Given the description of an element on the screen output the (x, y) to click on. 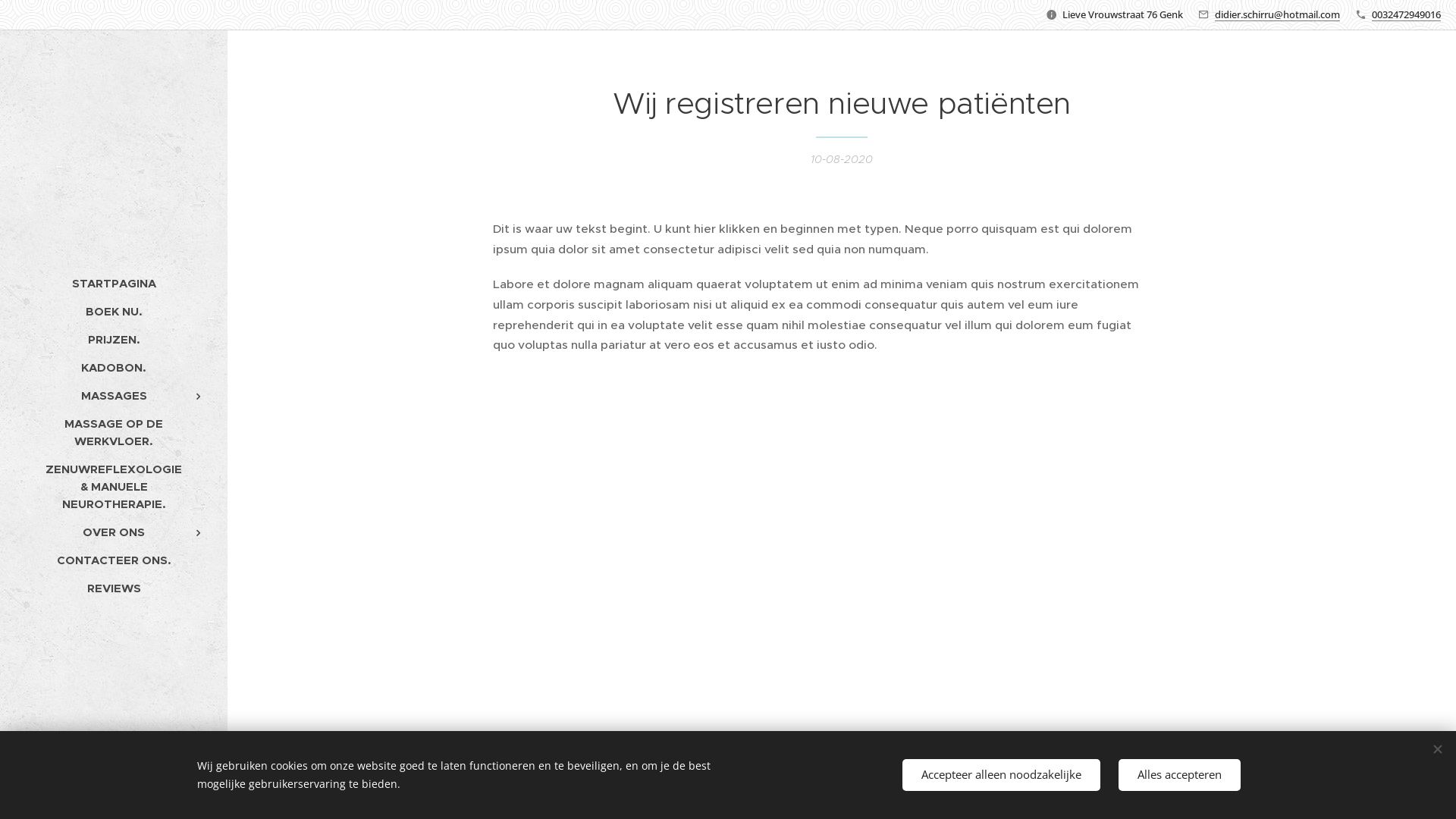
KADOBON. Element type: text (113, 367)
PRIJZEN. Element type: text (113, 339)
didier.schirru@hotmail.com Element type: text (1276, 14)
CONTACTEER ONS. Element type: text (113, 559)
BOEK NU. Element type: text (113, 311)
REVIEWS Element type: text (113, 587)
Cookies Element type: text (113, 796)
MASSAGES Element type: text (113, 395)
Alles accepteren Element type: text (1179, 774)
OVER ONS Element type: text (113, 531)
MASSAGE OP DE WERKVLOER. Element type: text (113, 431)
0032472949016 Element type: text (1405, 14)
STARTPAGINA Element type: text (113, 282)
Accepteer alleen noodzakelijke Element type: text (1001, 774)
ZENUWREFLEXOLOGIE & MANUELE NEUROTHERAPIE. Element type: text (113, 486)
